Given the description of an element on the screen output the (x, y) to click on. 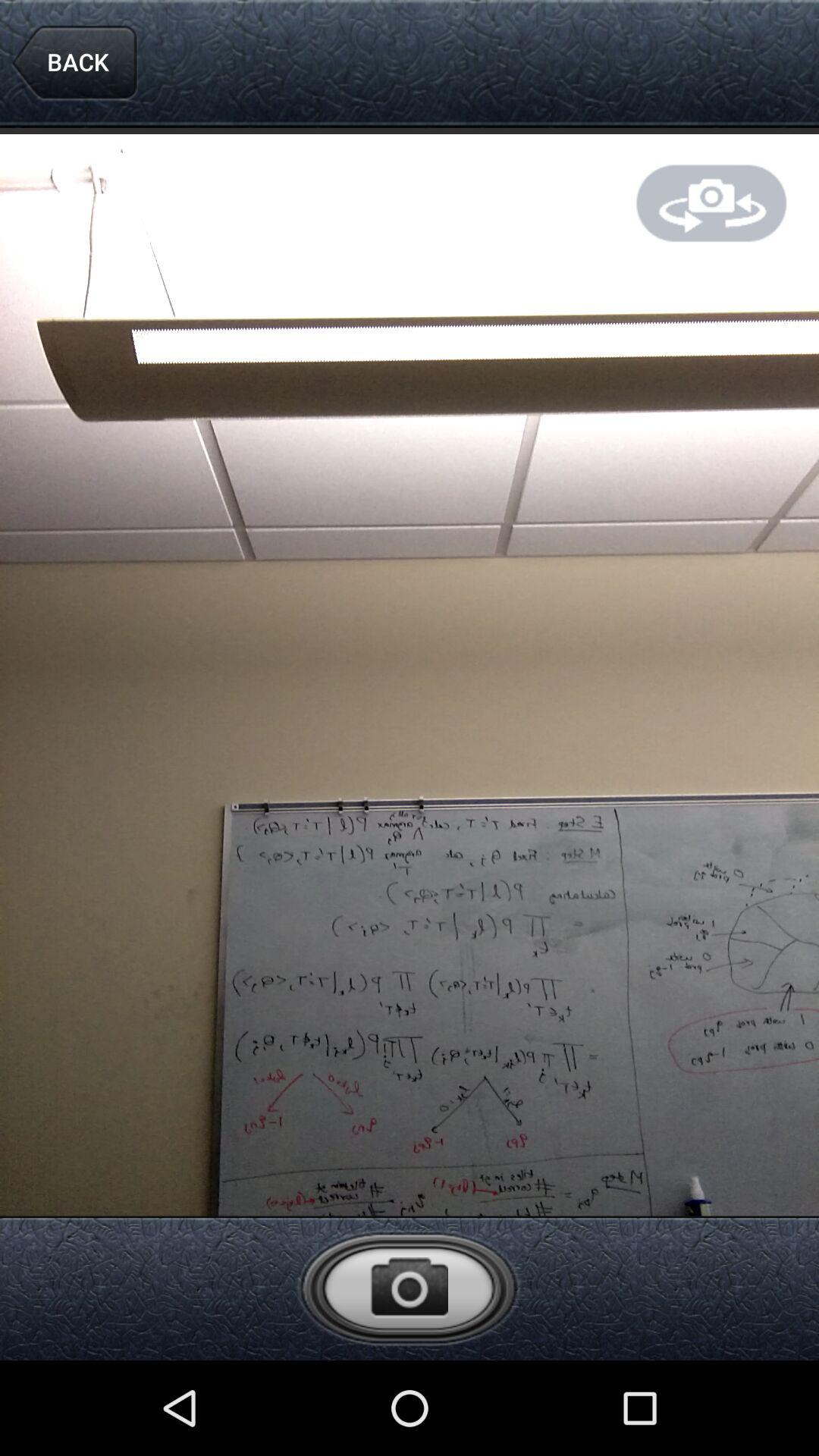
toggle camera view (711, 202)
